Given the description of an element on the screen output the (x, y) to click on. 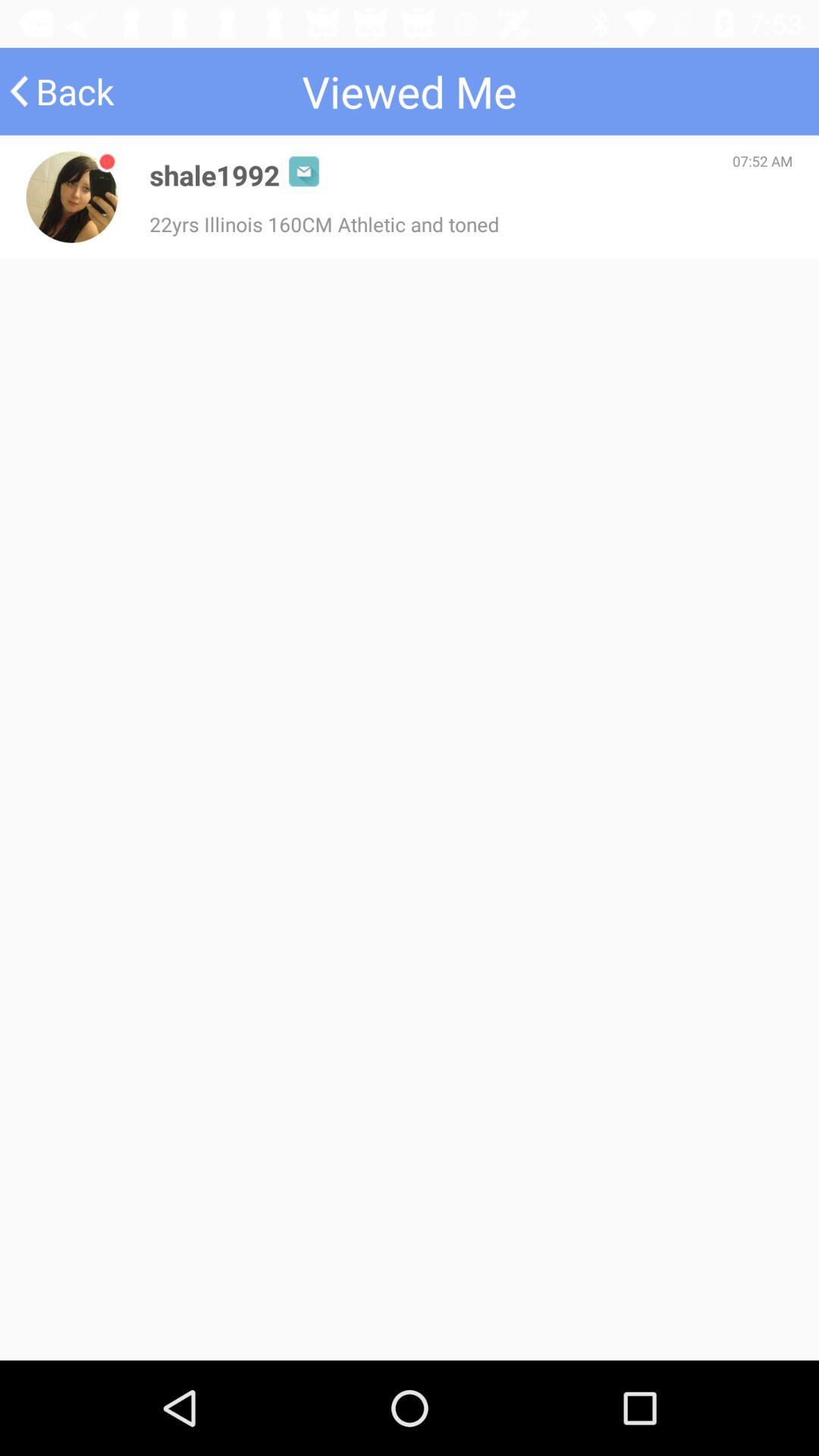
flip until the 07:52 am item (762, 160)
